Given the description of an element on the screen output the (x, y) to click on. 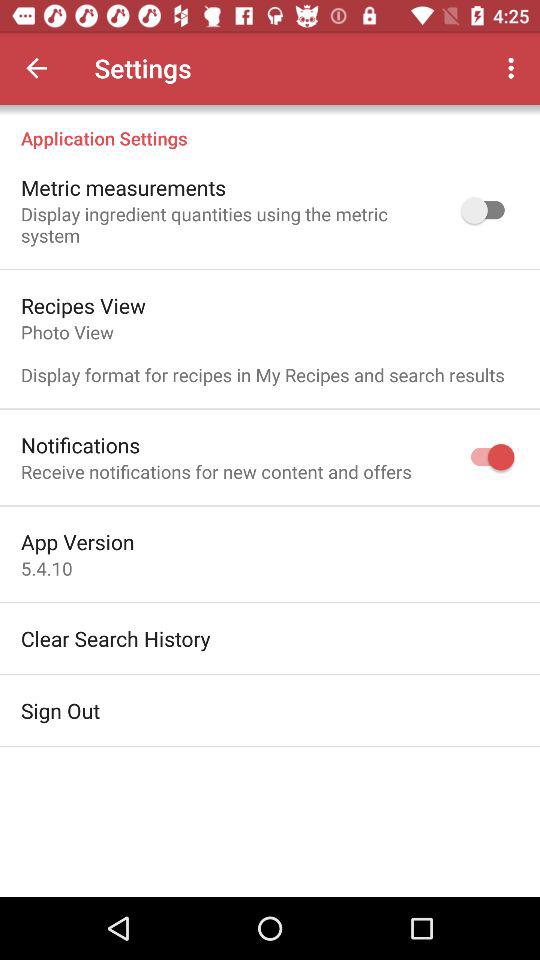
launch the app next to settings app (513, 67)
